Given the description of an element on the screen output the (x, y) to click on. 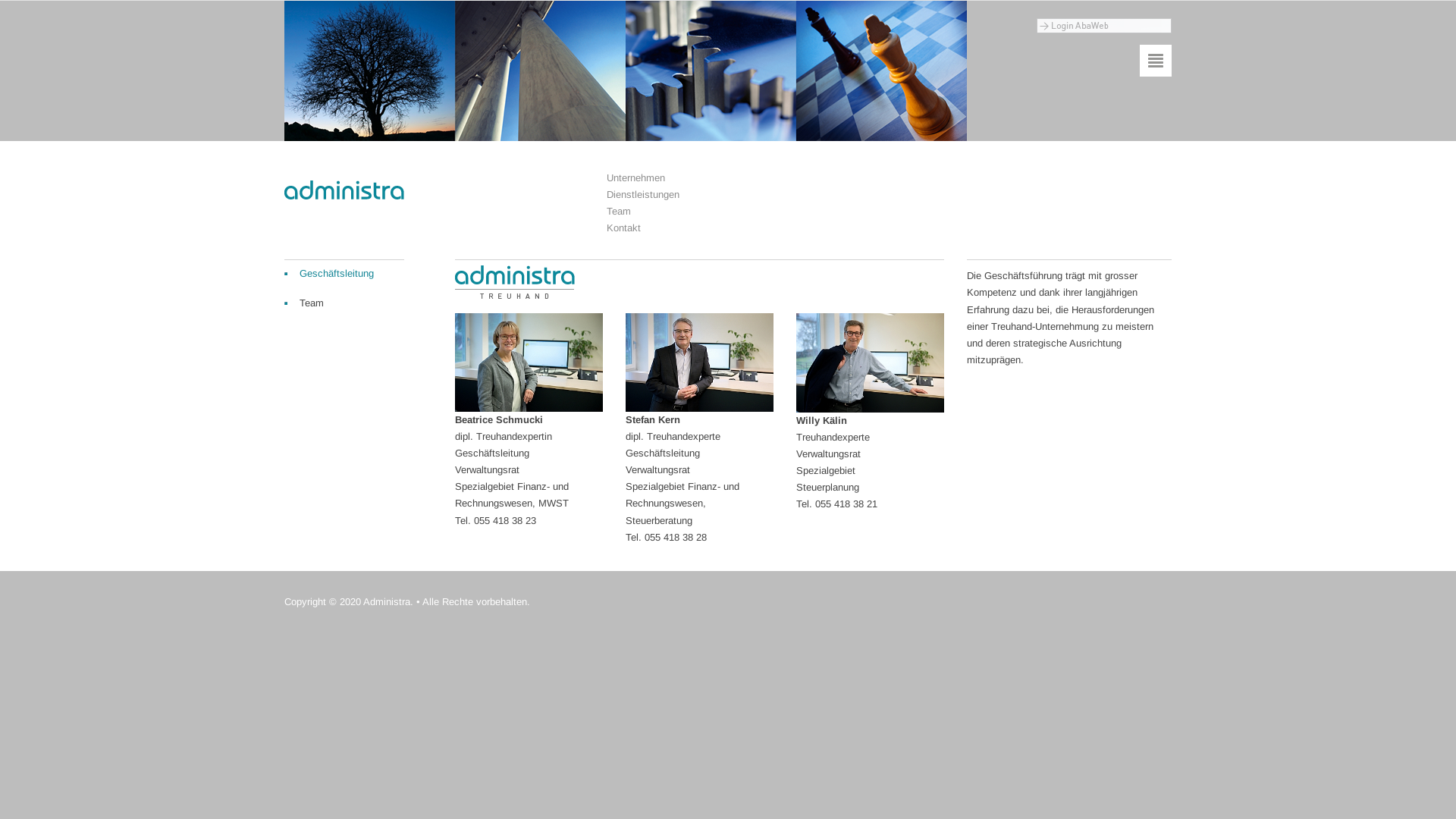
Team Element type: text (344, 303)
Kontakt Element type: text (623, 227)
Team Element type: text (618, 210)
Unternehmen Element type: text (635, 177)
Dienstleistungen Element type: text (642, 194)
